Given the description of an element on the screen output the (x, y) to click on. 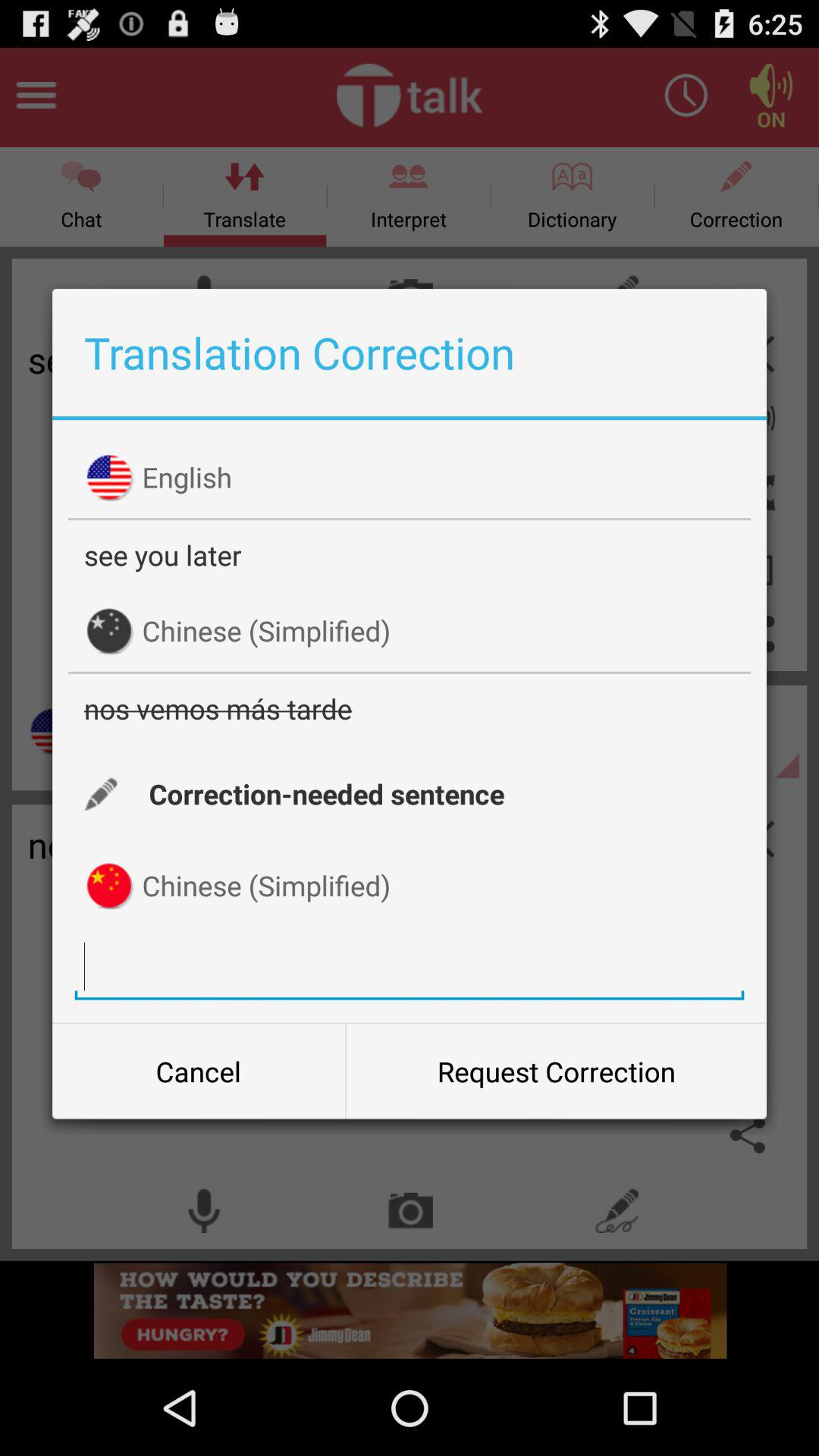
press the item at the bottom left corner (198, 1071)
